Given the description of an element on the screen output the (x, y) to click on. 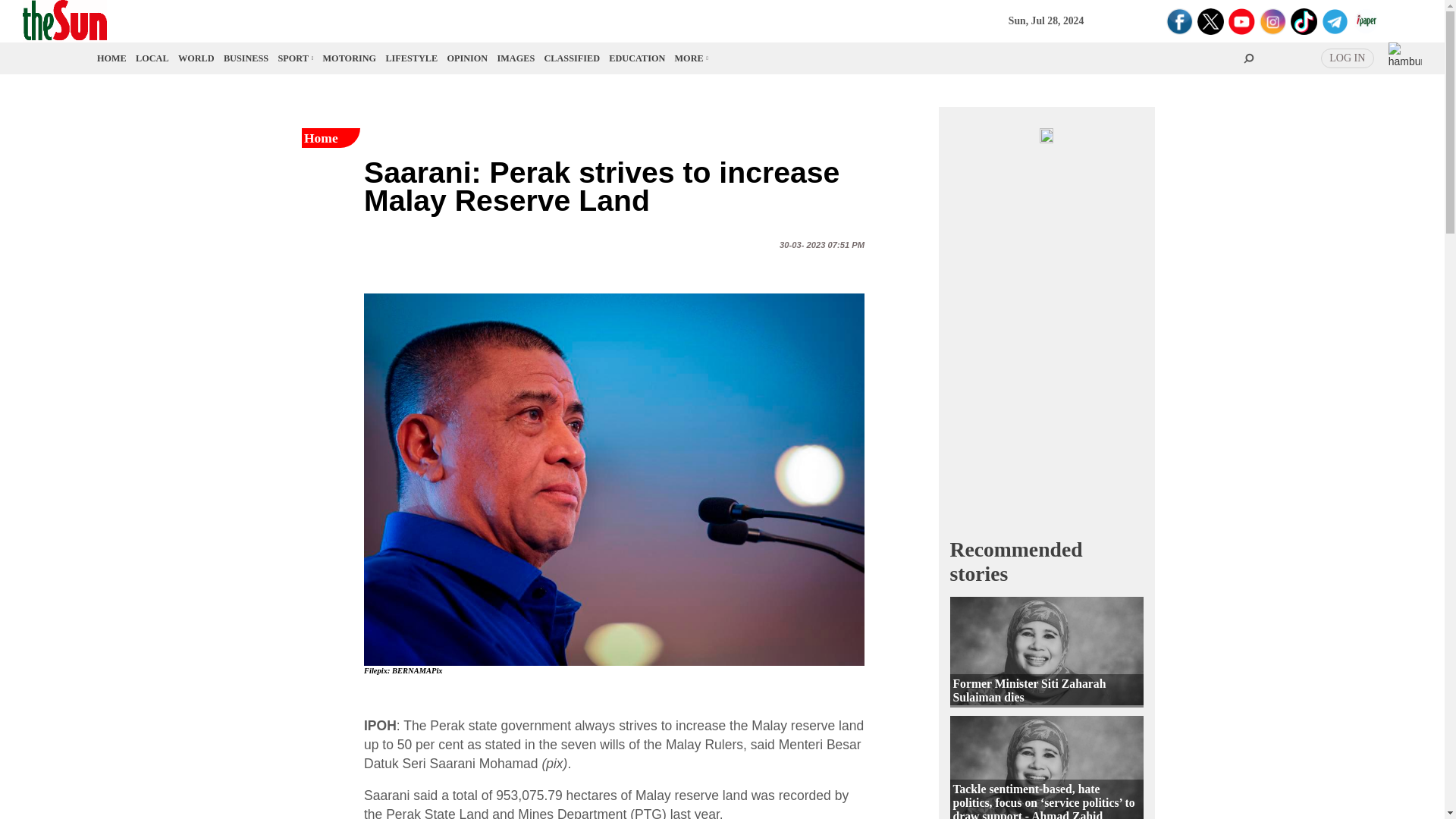
MOTORING (350, 57)
Home (111, 57)
LOCAL (151, 57)
OPINION (466, 57)
MORE (690, 57)
HOME (111, 57)
EDUCATION (636, 57)
LIFESTYLE (411, 57)
Local (151, 57)
WORLD (195, 57)
SPORT (294, 57)
IMAGES (516, 57)
CLASSIFIED (571, 57)
BUSINESS (245, 57)
LOG IN (1347, 57)
